Given the description of an element on the screen output the (x, y) to click on. 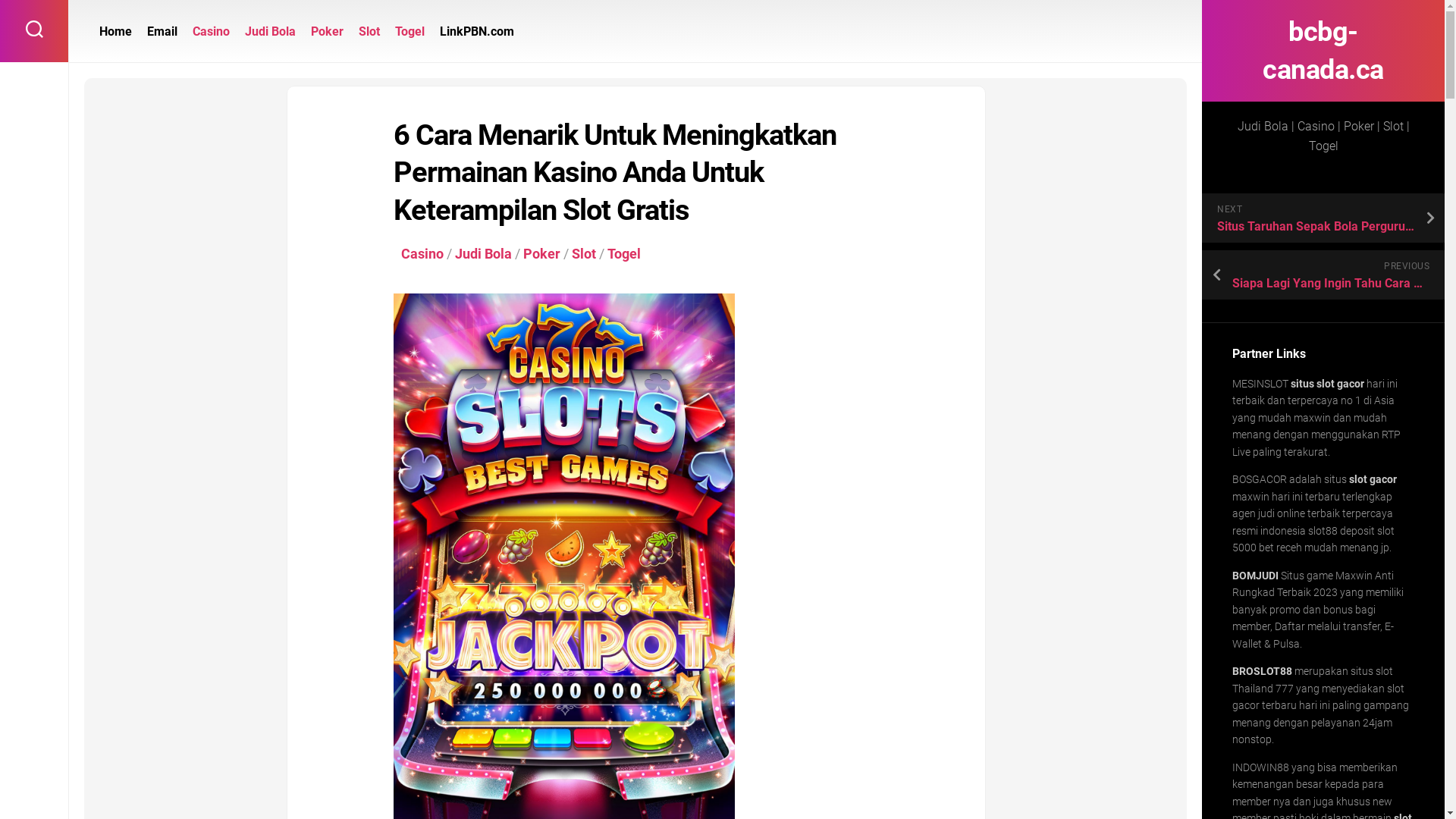
Judi Bola Element type: text (269, 31)
slot gacor Element type: text (1372, 479)
Togel Element type: text (623, 253)
Casino Element type: text (422, 253)
Poker Element type: text (326, 31)
Judi Bola Element type: text (483, 253)
BROSLOT88 Element type: text (1262, 671)
BOMJUDI Element type: text (1255, 575)
situs slot gacor Element type: text (1327, 383)
Togel Element type: text (409, 31)
Casino Element type: text (210, 31)
Poker Element type: text (541, 253)
Slot Element type: text (368, 31)
Slot Element type: text (583, 253)
PREVIOUS
Siapa Lagi Yang Ingin Tahu Cara Poker'? Element type: text (1322, 274)
LinkPBN.com Element type: text (476, 31)
Home Element type: text (115, 31)
Email Element type: text (162, 31)
bcbg-canada.ca Element type: text (1323, 50)
